Given the description of an element on the screen output the (x, y) to click on. 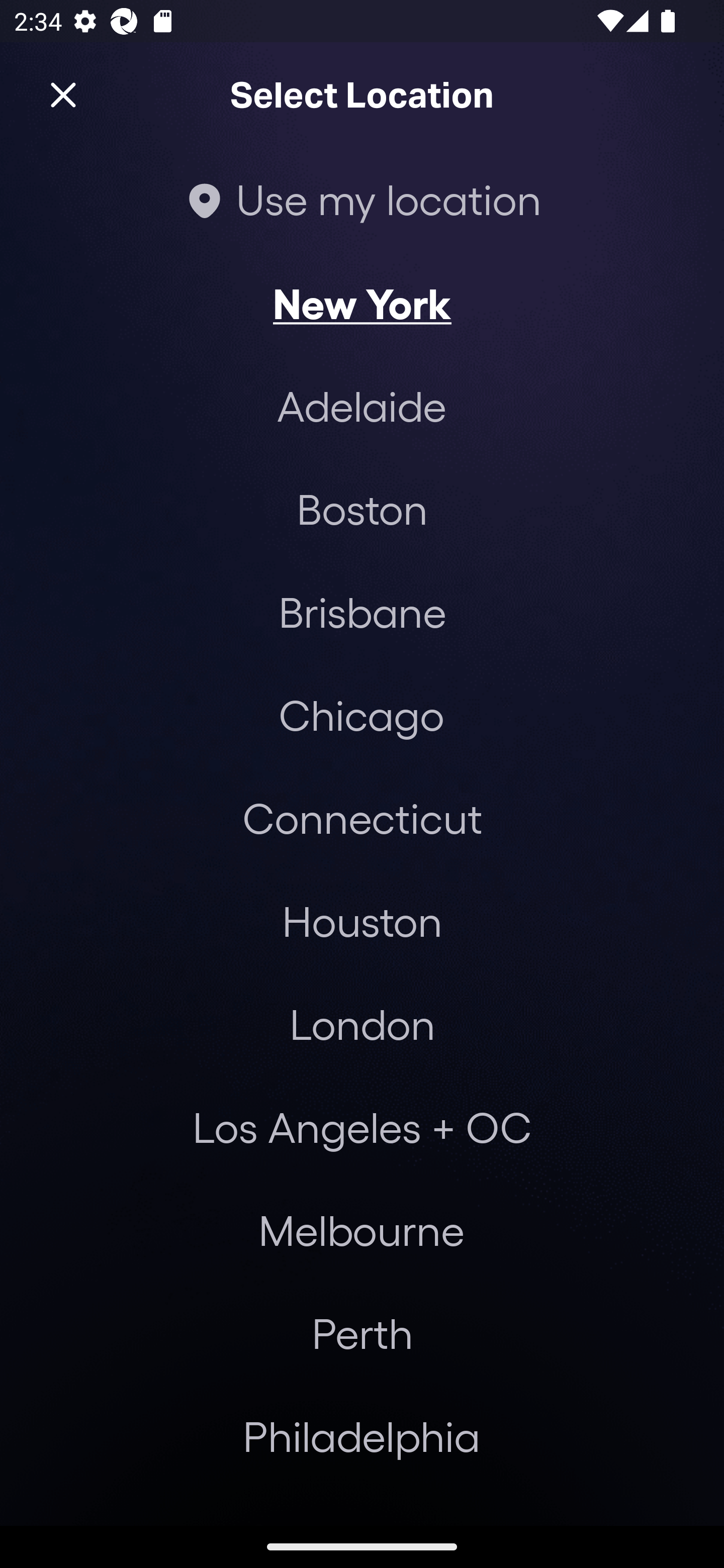
Close (62, 95)
   Use my location (362, 198)
New York (361, 302)
Adelaide (361, 405)
Boston (361, 508)
Brisbane (361, 611)
Chicago (361, 714)
Connecticut (361, 817)
Houston (361, 920)
London (361, 1023)
Los Angeles + OC (361, 1127)
Melbourne (361, 1230)
Perth (361, 1332)
Philadelphia (361, 1436)
